Given the description of an element on the screen output the (x, y) to click on. 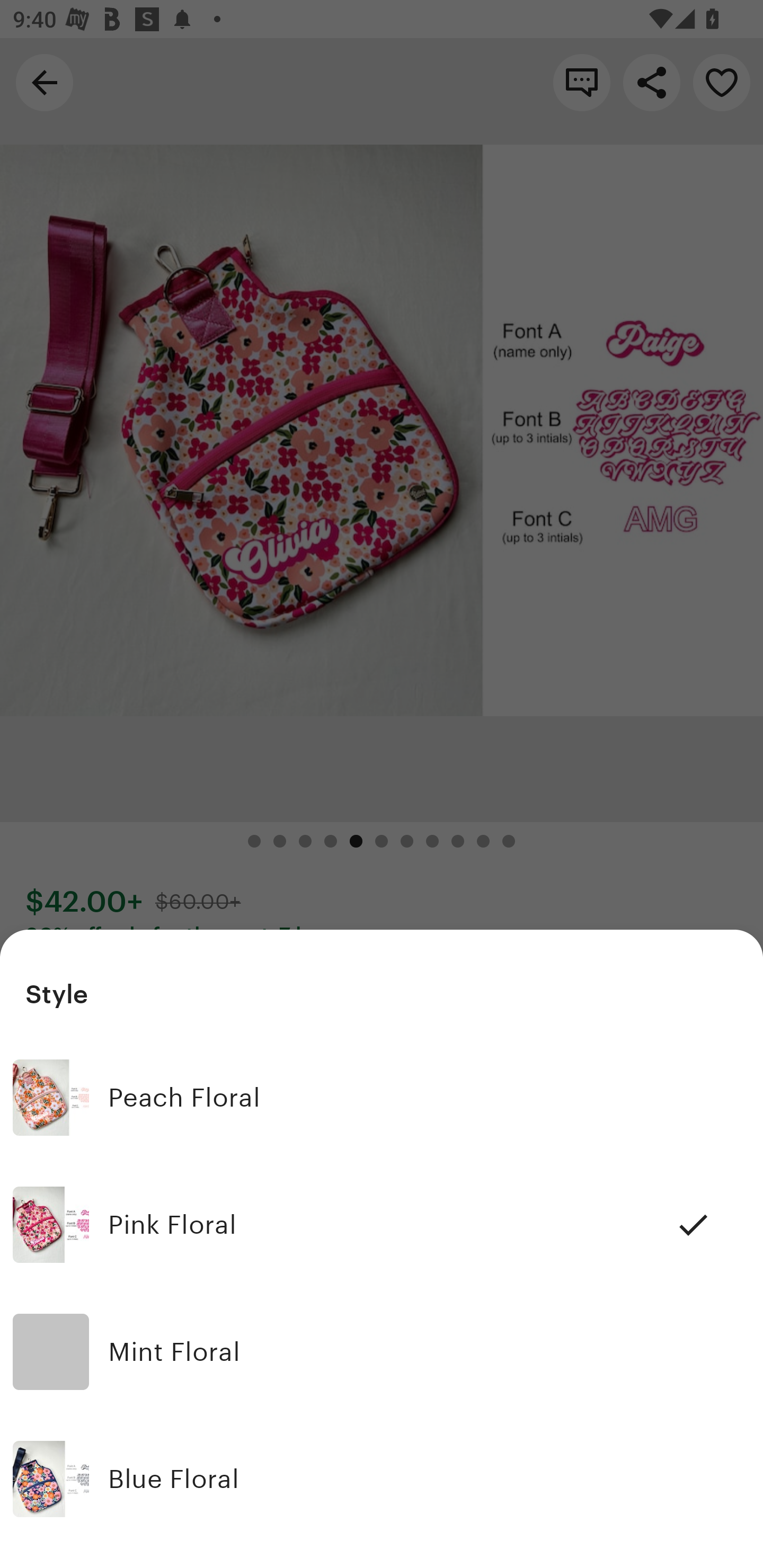
Peach Floral (381, 1097)
Pink Floral Selected (381, 1224)
Mint Floral (381, 1351)
Blue Floral (381, 1478)
